Given the description of an element on the screen output the (x, y) to click on. 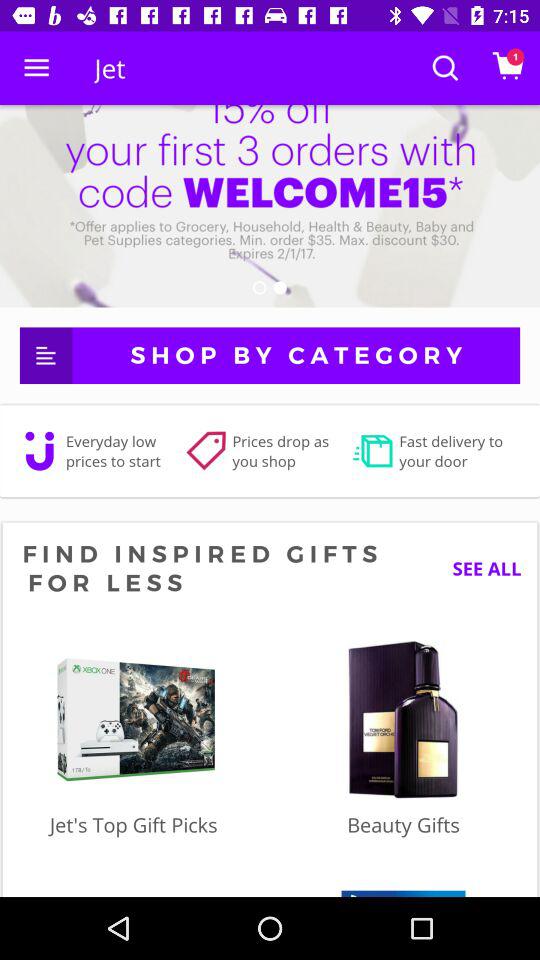
choose icon next to the jet icon (36, 68)
